Given the description of an element on the screen output the (x, y) to click on. 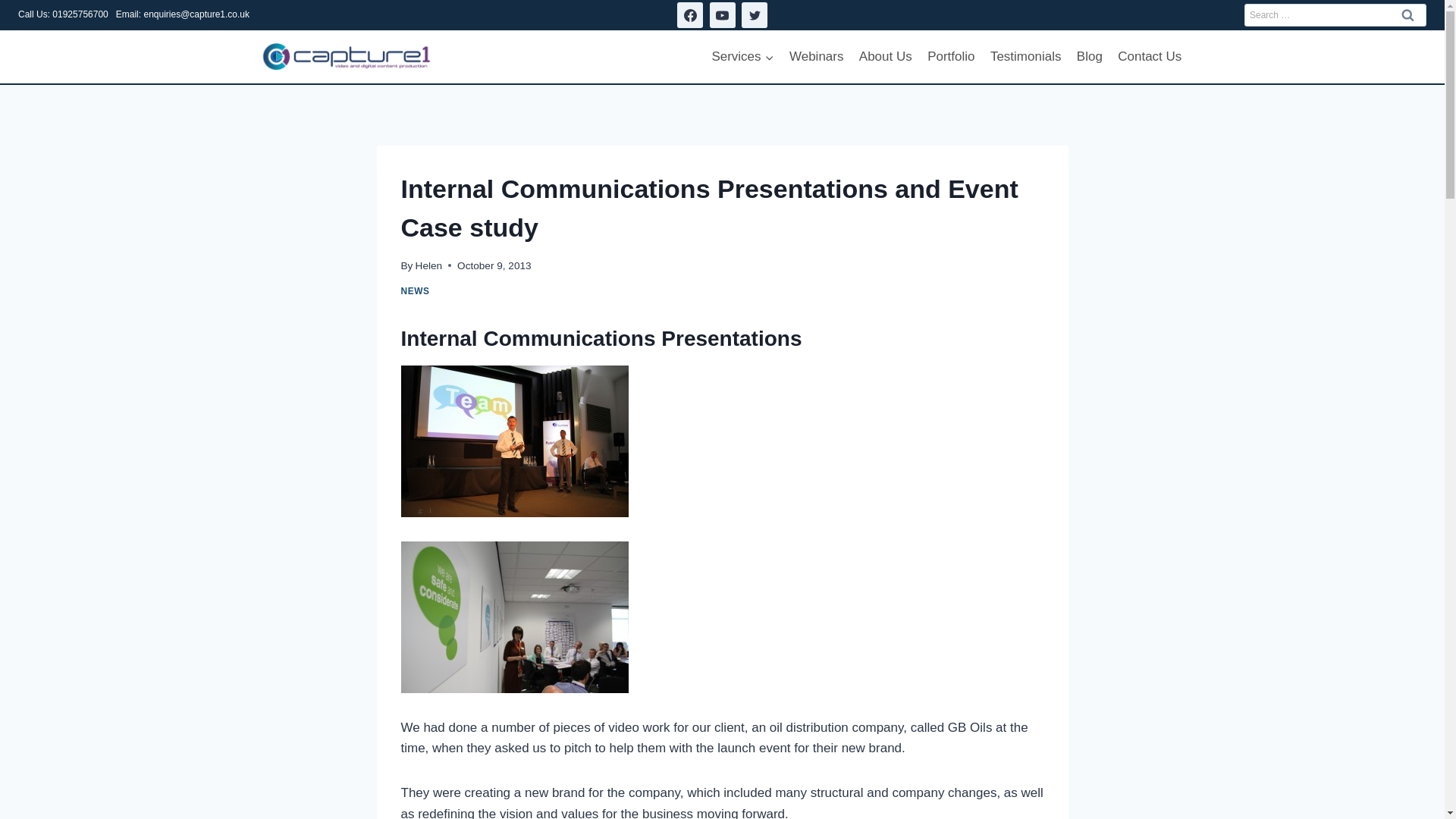
brand re-launch event company presentation (513, 616)
Search (1407, 14)
Search (1407, 14)
Helen (428, 265)
NEWS (414, 290)
Portfolio (951, 56)
Testimonials (1025, 56)
re-brand launch event company presentation (513, 440)
Contact Us (1149, 56)
Webinars (816, 56)
Blog (1088, 56)
Services (742, 56)
01925756700 (79, 14)
About Us (885, 56)
Search (1407, 14)
